Given the description of an element on the screen output the (x, y) to click on. 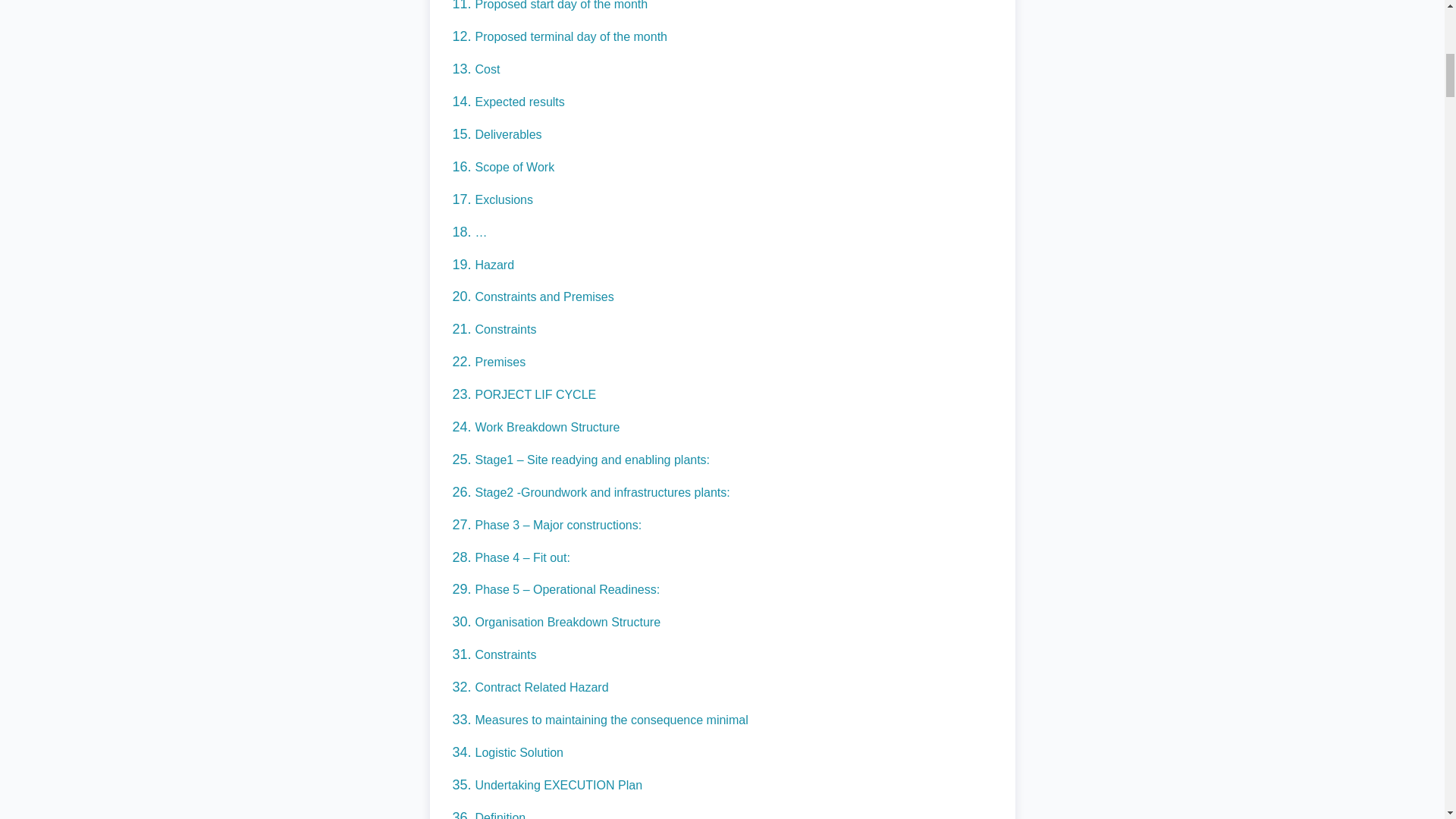
Constraints and Premises (543, 296)
Premises (499, 361)
Hazard (493, 264)
PORJECT LIF CYCLE (534, 394)
Cost (486, 69)
Scope of Work (514, 166)
Constraints (504, 328)
Deliverables (507, 133)
Exclusions (503, 199)
Expected results (519, 101)
